Given the description of an element on the screen output the (x, y) to click on. 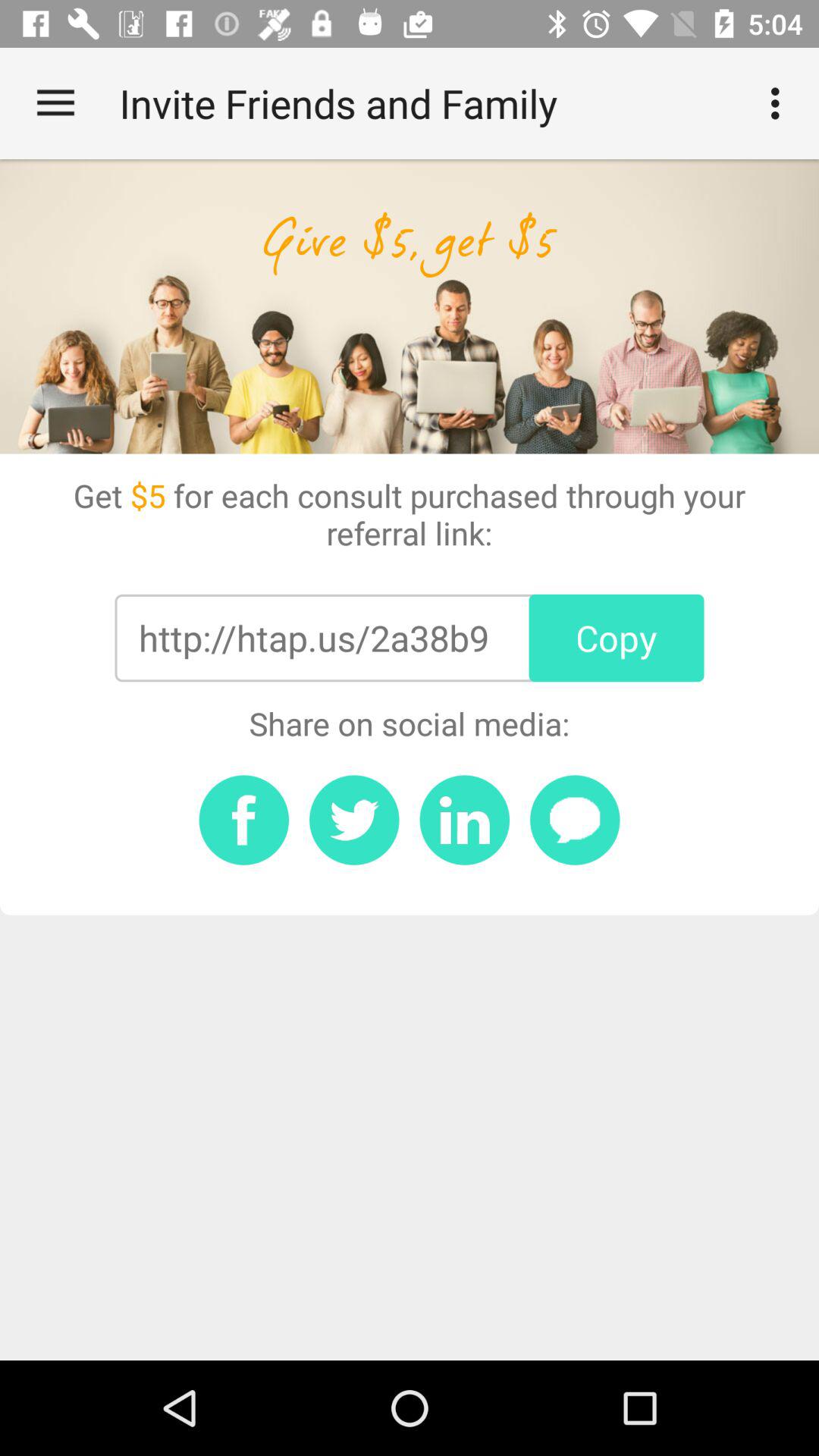
twitter button (354, 820)
